Given the description of an element on the screen output the (x, y) to click on. 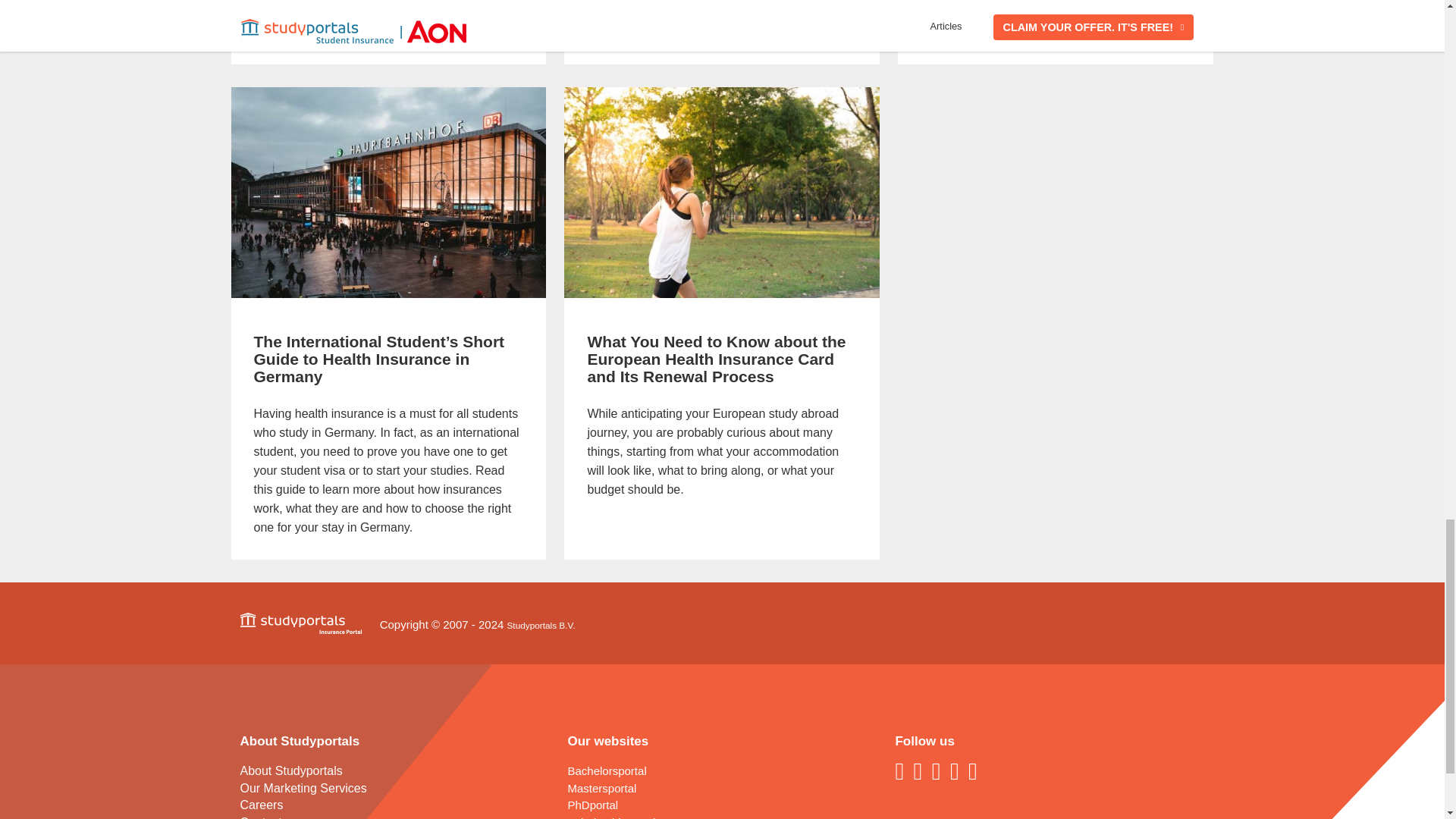
Connect to us on LinkedIn (921, 770)
Like us on Facebook (902, 770)
Bachelorsportal.com (606, 770)
Our Marketing Services (303, 788)
Studyportals B.V. (540, 624)
PhDportal.com (592, 804)
Scholarshipportal (611, 817)
About Studyportals (291, 770)
Follow us on Instagram (976, 770)
